Given the description of an element on the screen output the (x, y) to click on. 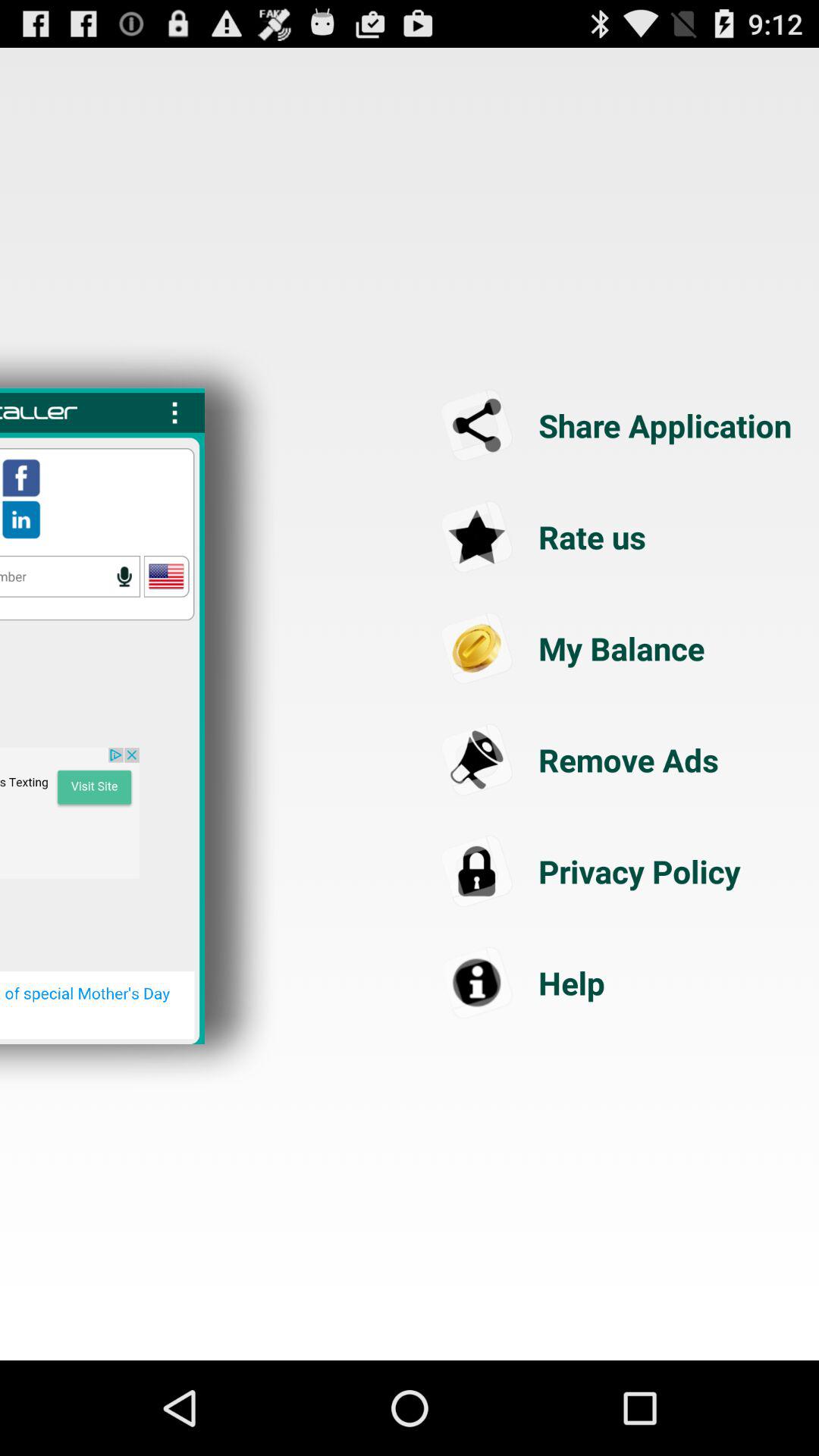
click the flog (166, 576)
